Given the description of an element on the screen output the (x, y) to click on. 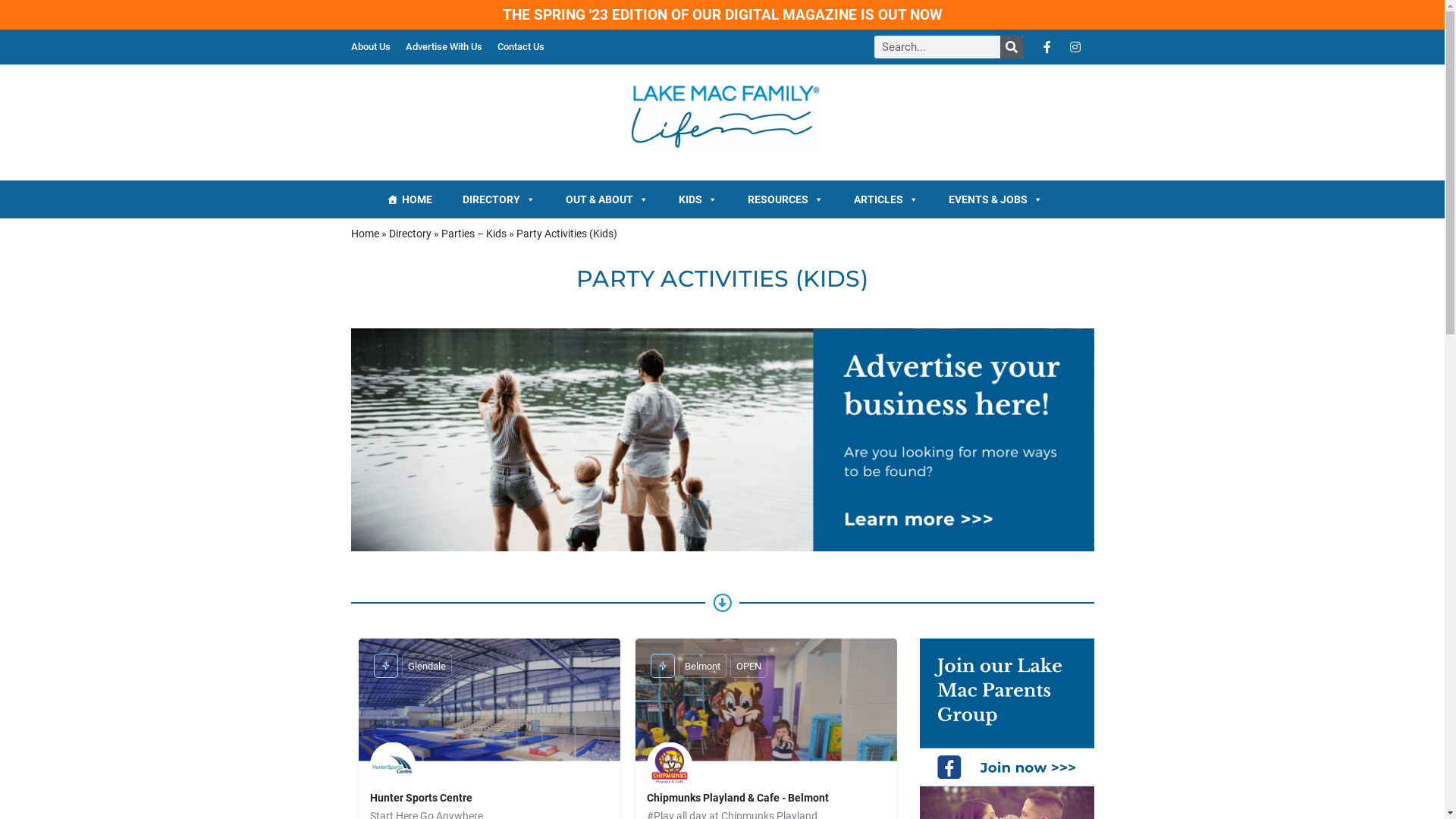
DIRECTORY Element type: text (498, 199)
About Us Element type: text (369, 46)
Advertise With Us Element type: text (443, 46)
Contact Us Element type: text (520, 46)
EVENTS & JOBS Element type: text (995, 199)
OUT & ABOUT Element type: text (606, 199)
Home Element type: text (364, 233)
HOME Element type: text (409, 199)
KIDS Element type: text (697, 199)
THE SPRING '23 EDITION OF OUR DIGITAL MAGAZINE IS OUT NOW Element type: text (721, 14)
ARTICLES Element type: text (885, 199)
Directory Element type: text (409, 233)
RESOURCES Element type: text (785, 199)
